Given the description of an element on the screen output the (x, y) to click on. 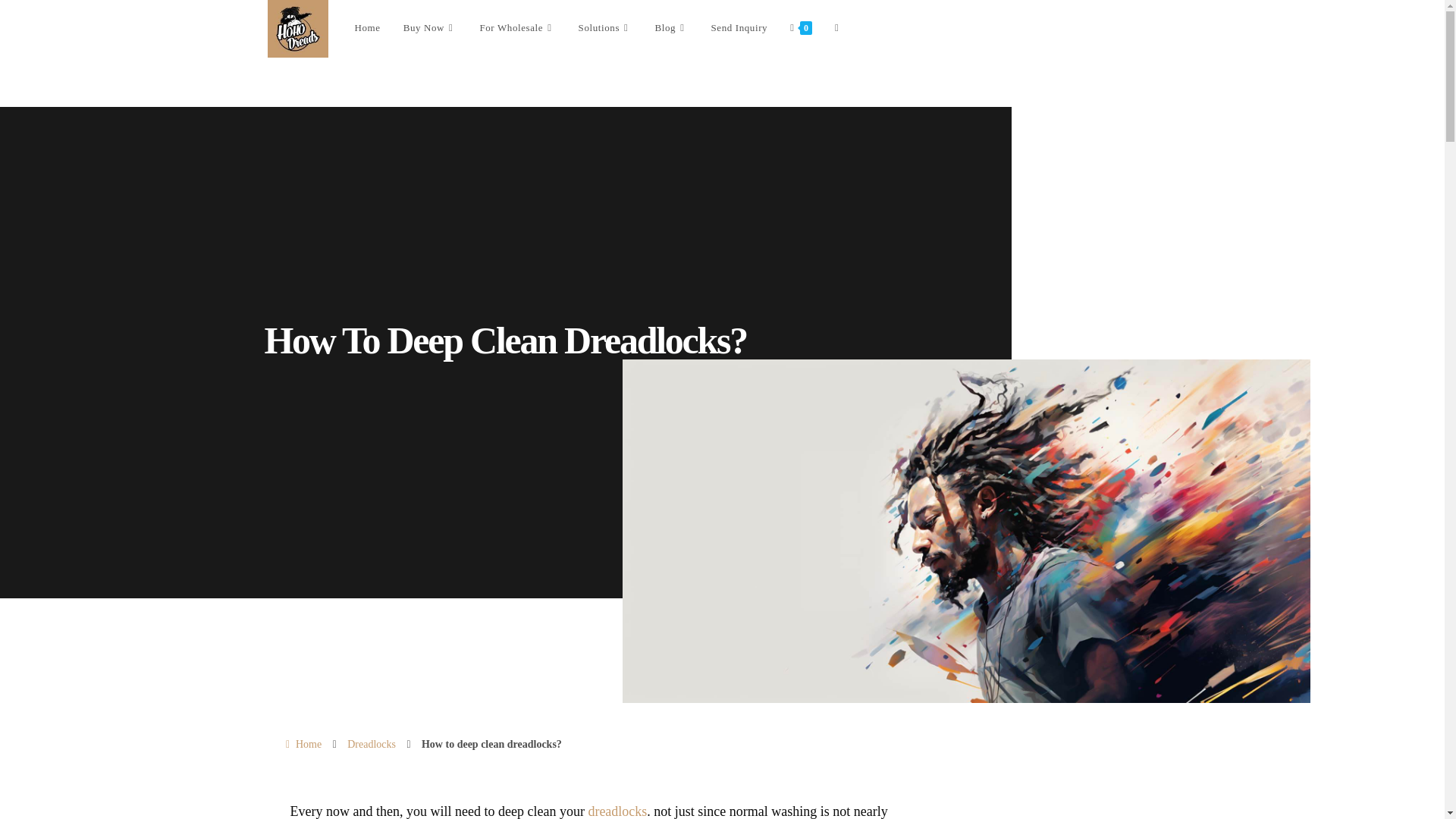
For Wholesale (516, 28)
Blog (670, 28)
Send Inquiry (738, 28)
Home (301, 743)
dreadlocks (617, 811)
Solutions (605, 28)
Dreadlocks (371, 743)
Buy Now (429, 28)
Home (301, 743)
How to deep clean dreadlocks? (492, 743)
